Given the description of an element on the screen output the (x, y) to click on. 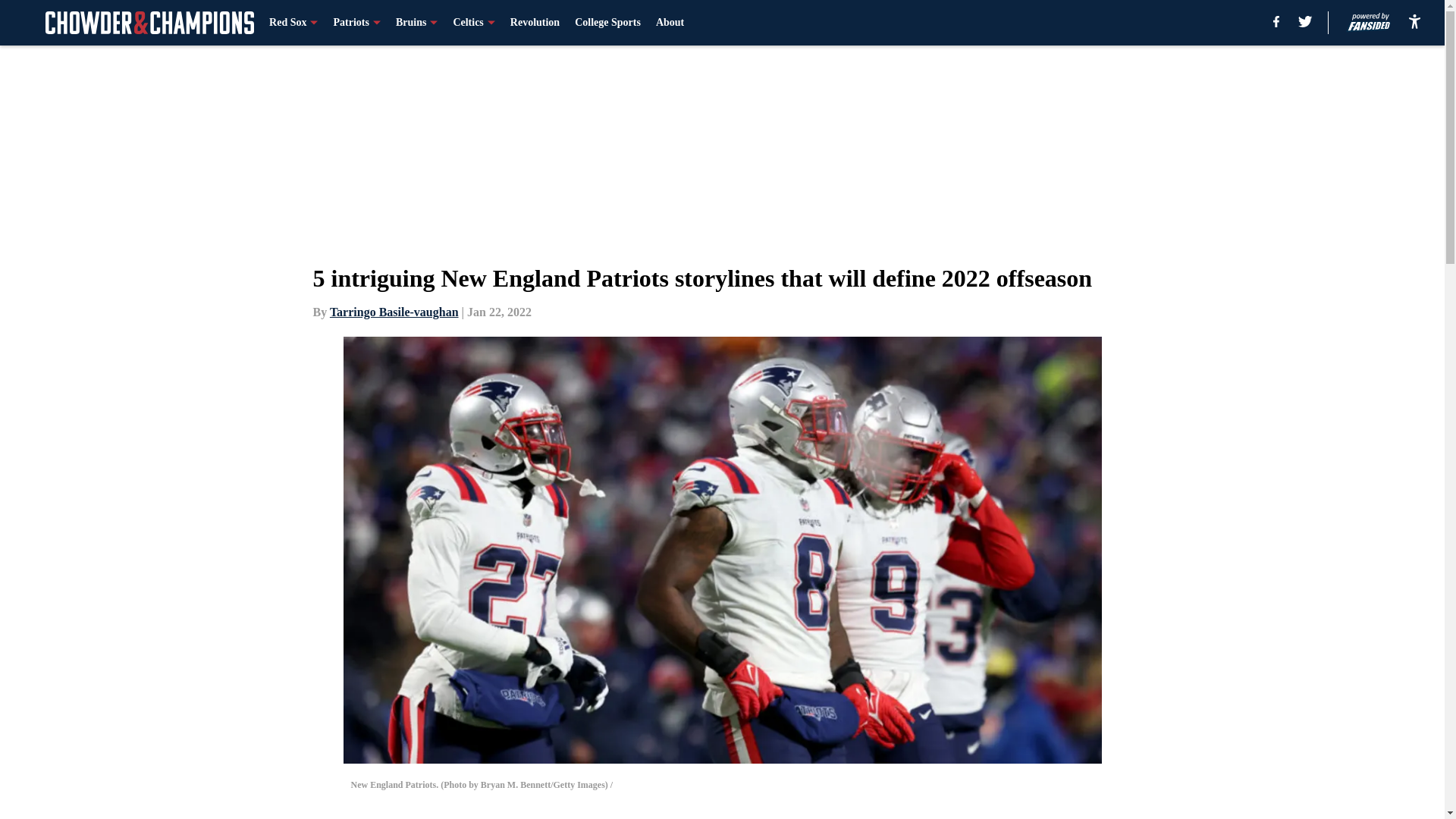
College Sports (607, 22)
Tarringo Basile-vaughan (394, 311)
About (670, 22)
Revolution (535, 22)
